Given the description of an element on the screen output the (x, y) to click on. 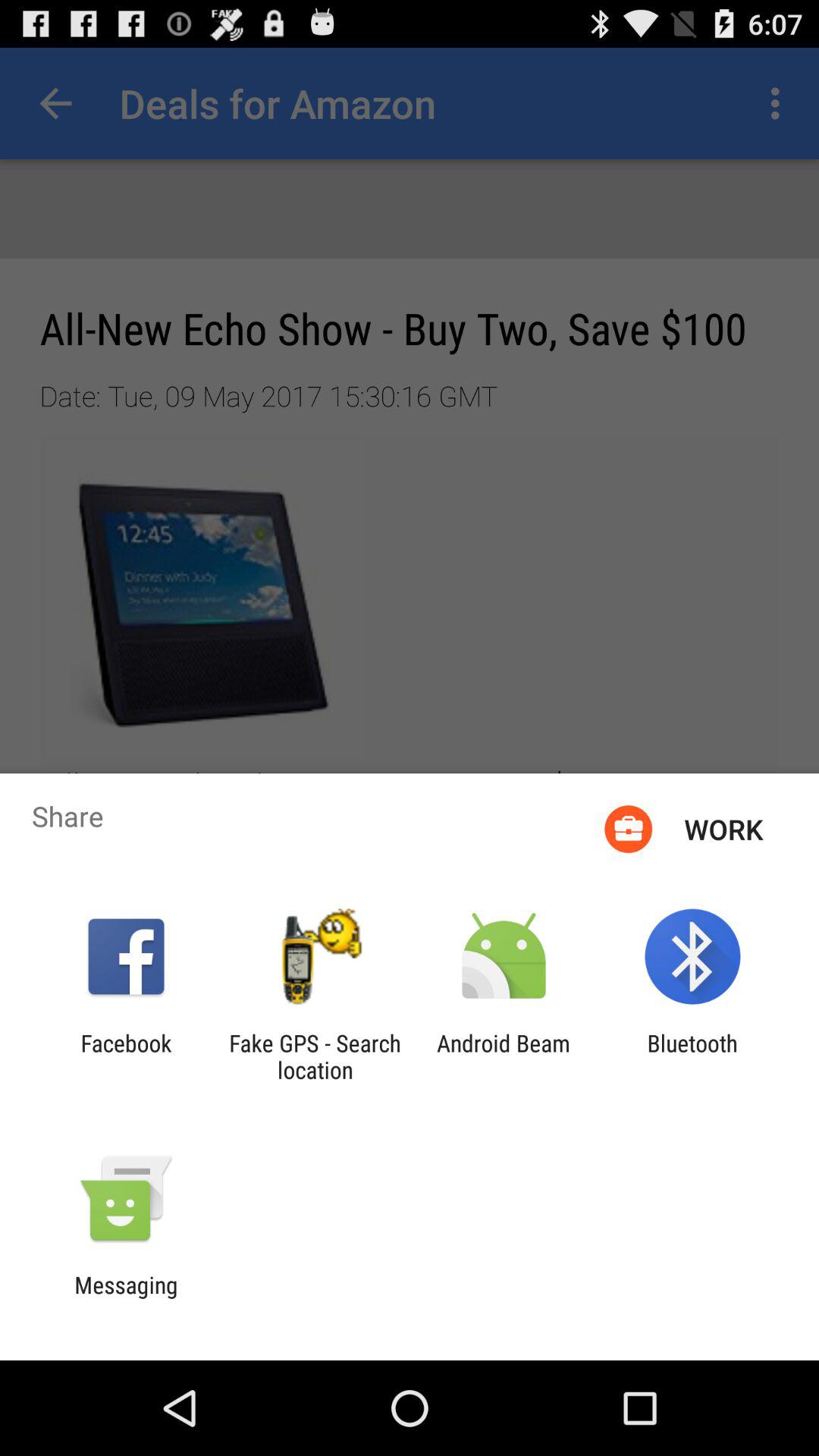
jump until the fake gps search item (314, 1056)
